Given the description of an element on the screen output the (x, y) to click on. 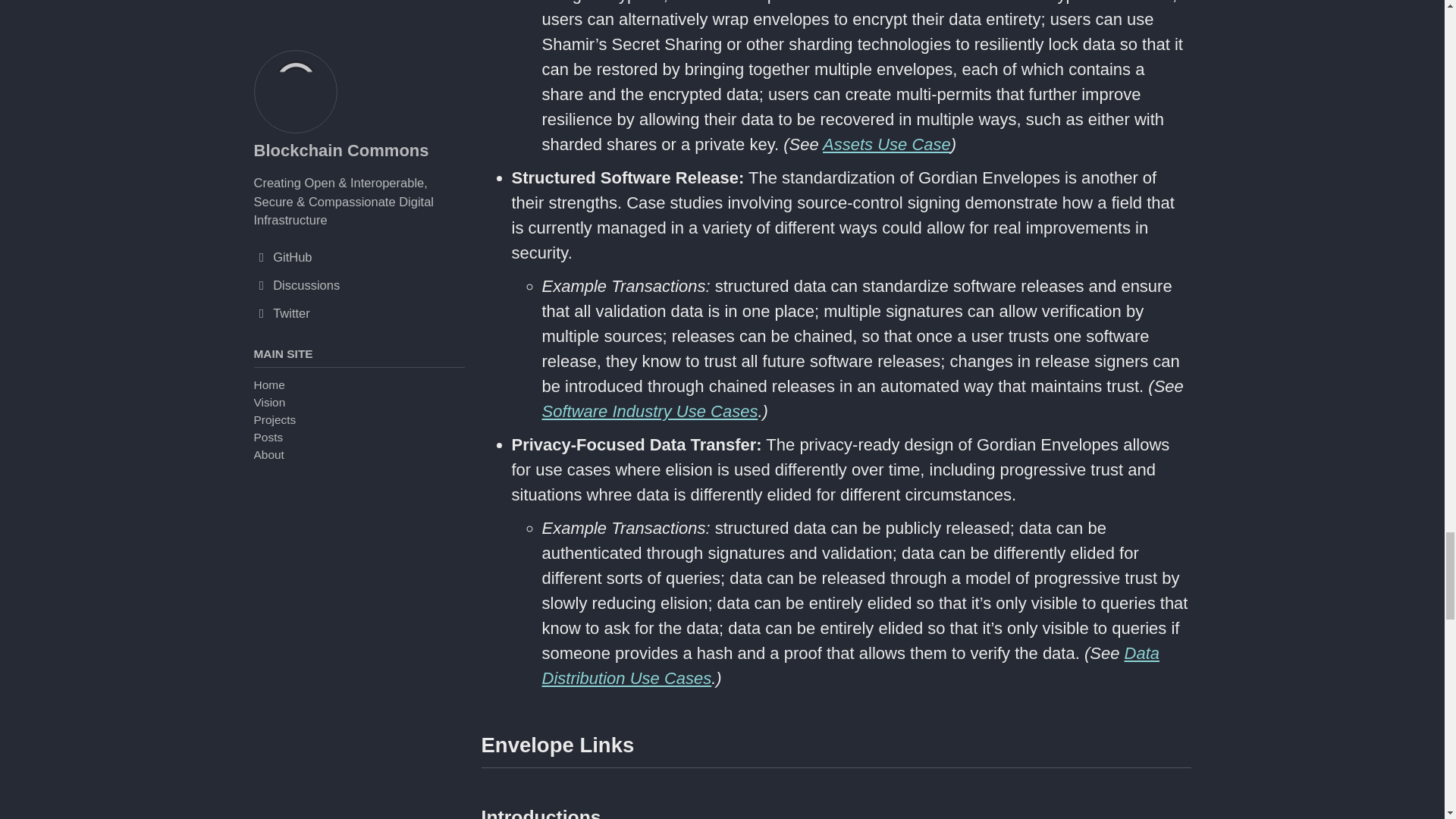
Data Distribution Use Cases (849, 665)
Assets Use Case (886, 144)
Software Industry Use Cases (649, 411)
